Given the description of an element on the screen output the (x, y) to click on. 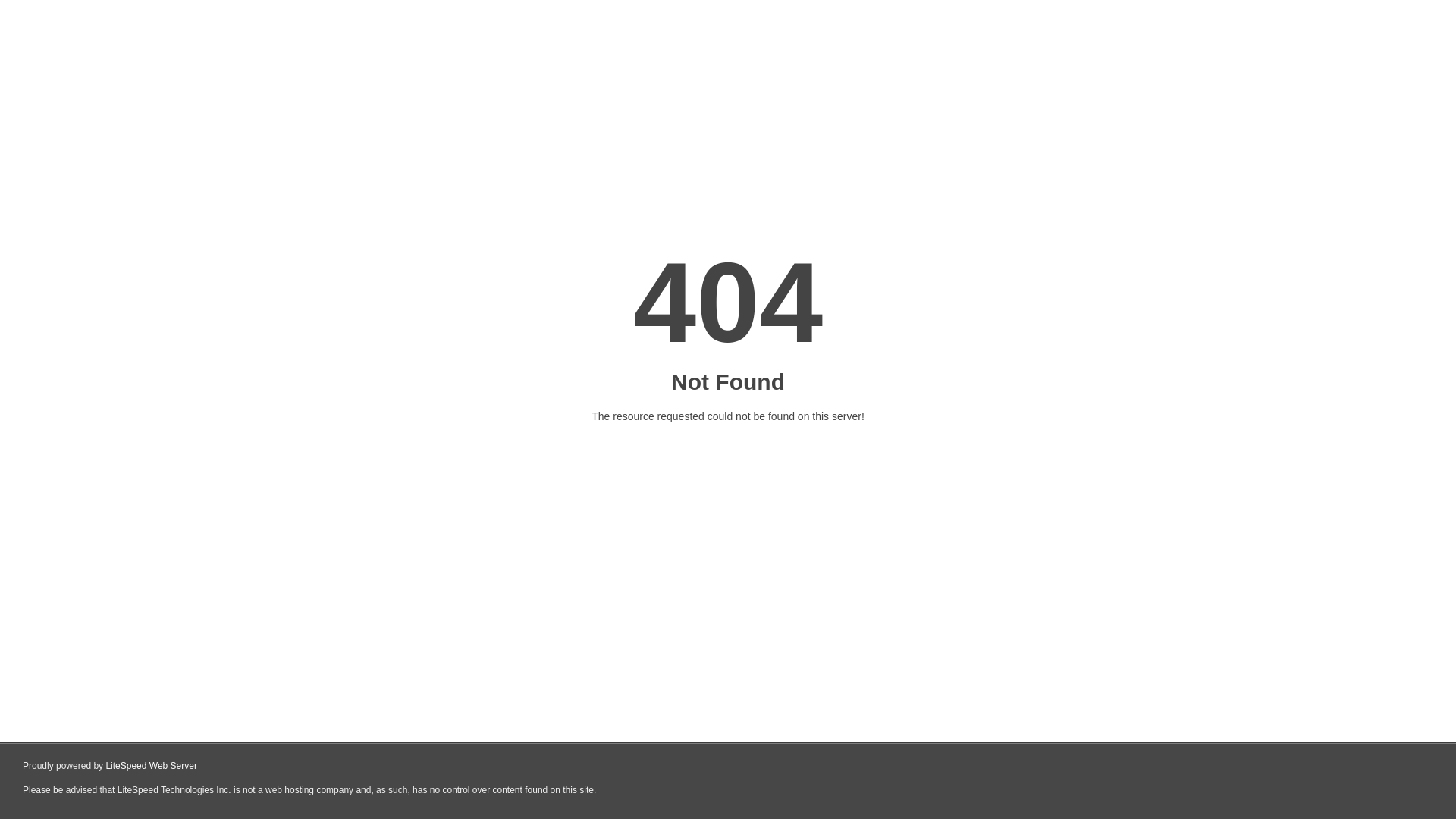
LiteSpeed Web Server Element type: text (151, 765)
